Given the description of an element on the screen output the (x, y) to click on. 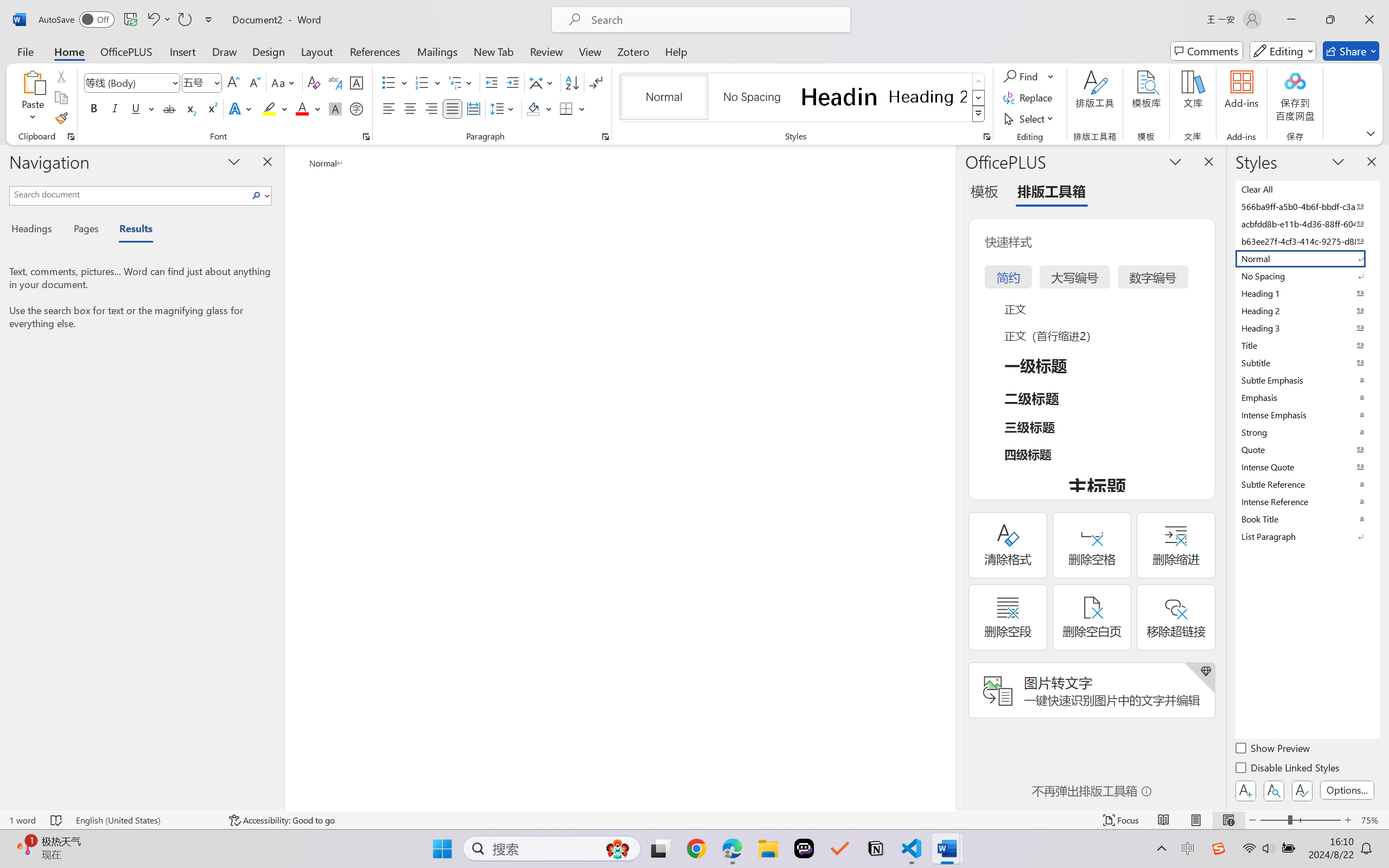
Repeat Style (184, 19)
Review (546, 51)
Shading (539, 108)
Shading RGB(0, 0, 0) (533, 108)
Font... (365, 136)
Styles (978, 113)
Show/Hide Editing Marks (595, 82)
Title (1306, 345)
Decrease Indent (491, 82)
